Given the description of an element on the screen output the (x, y) to click on. 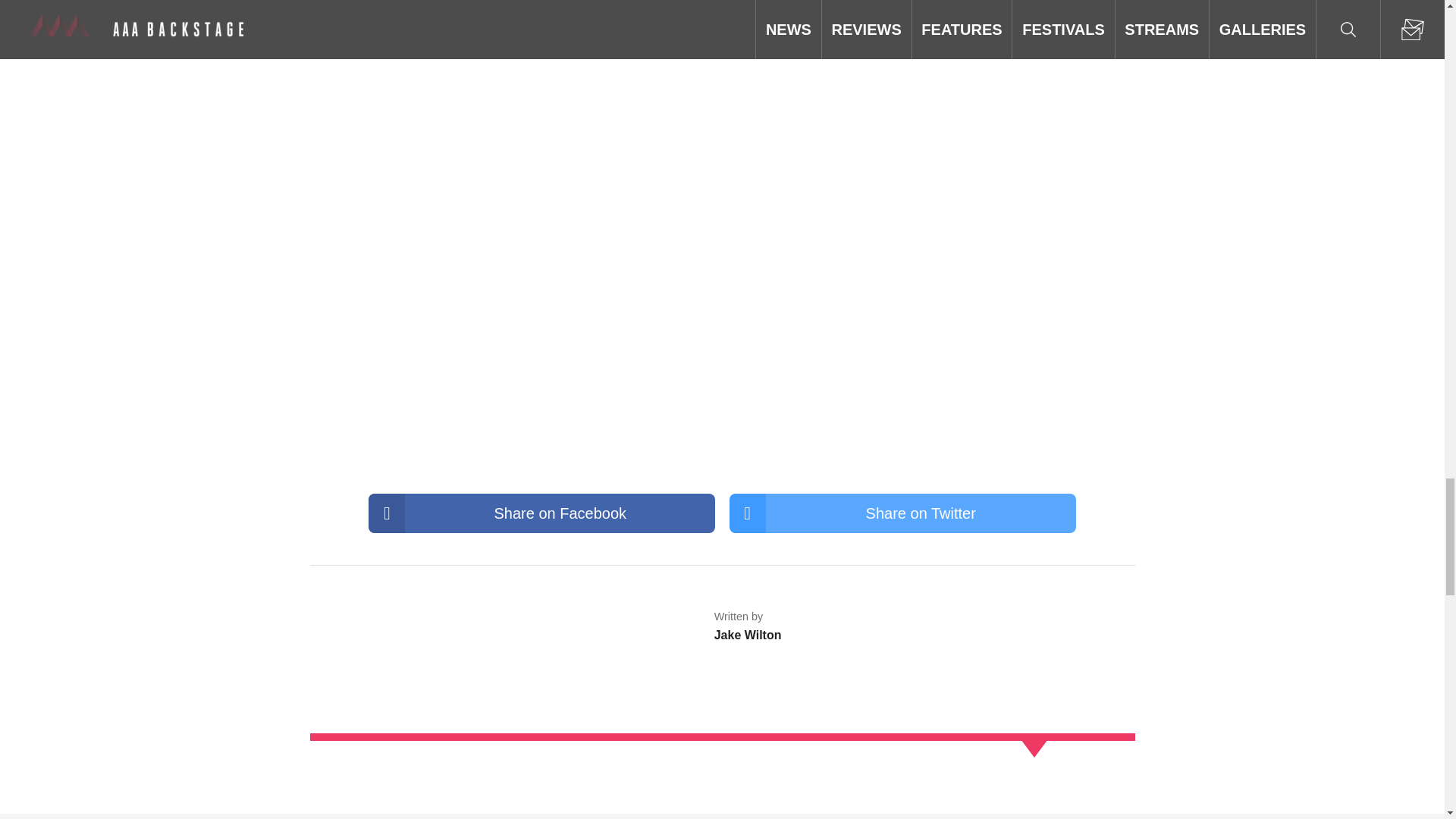
Share on Twitter (902, 513)
Share on Facebook (541, 513)
